Given the description of an element on the screen output the (x, y) to click on. 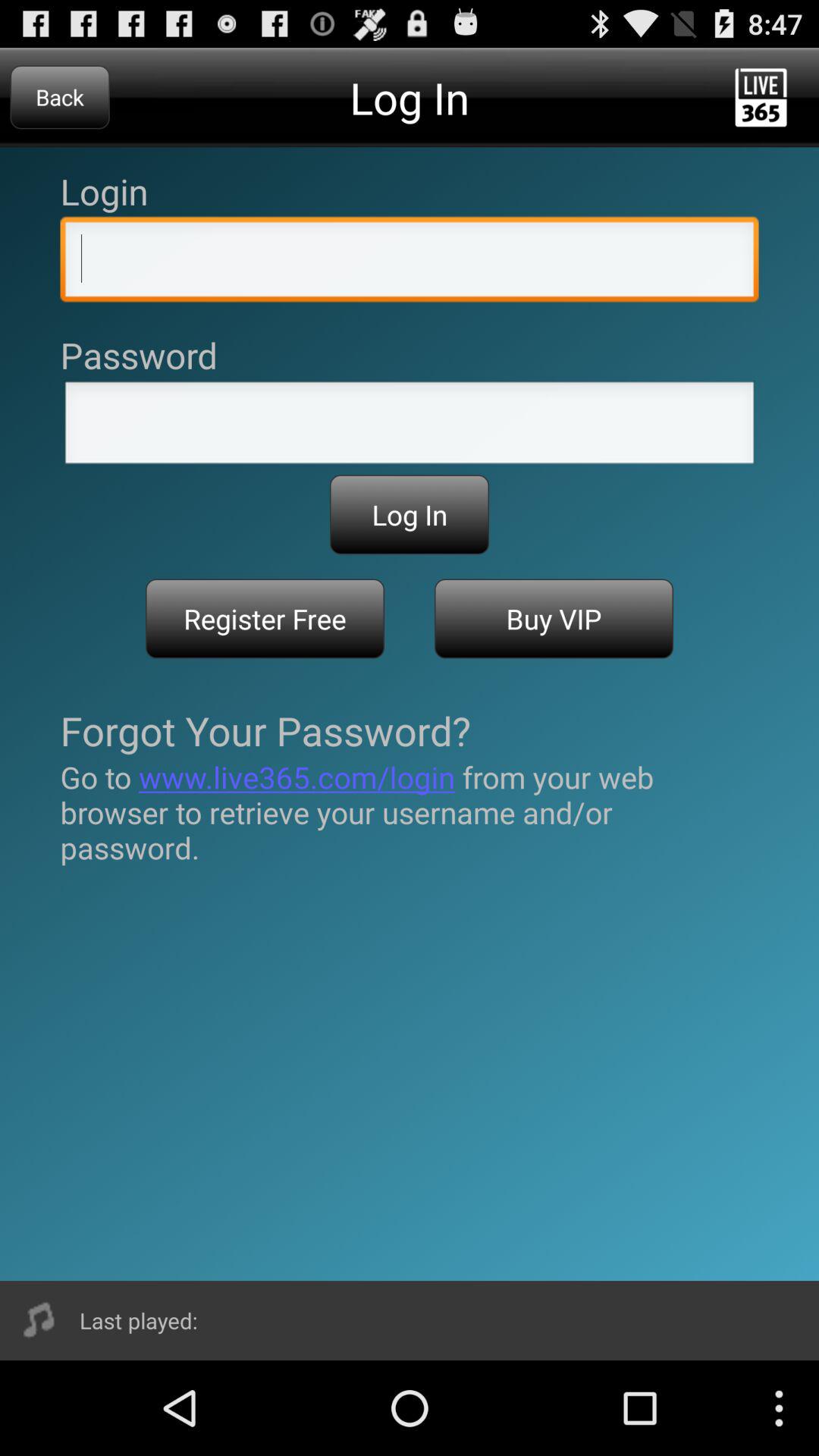
flip to buy vip icon (553, 618)
